Given the description of an element on the screen output the (x, y) to click on. 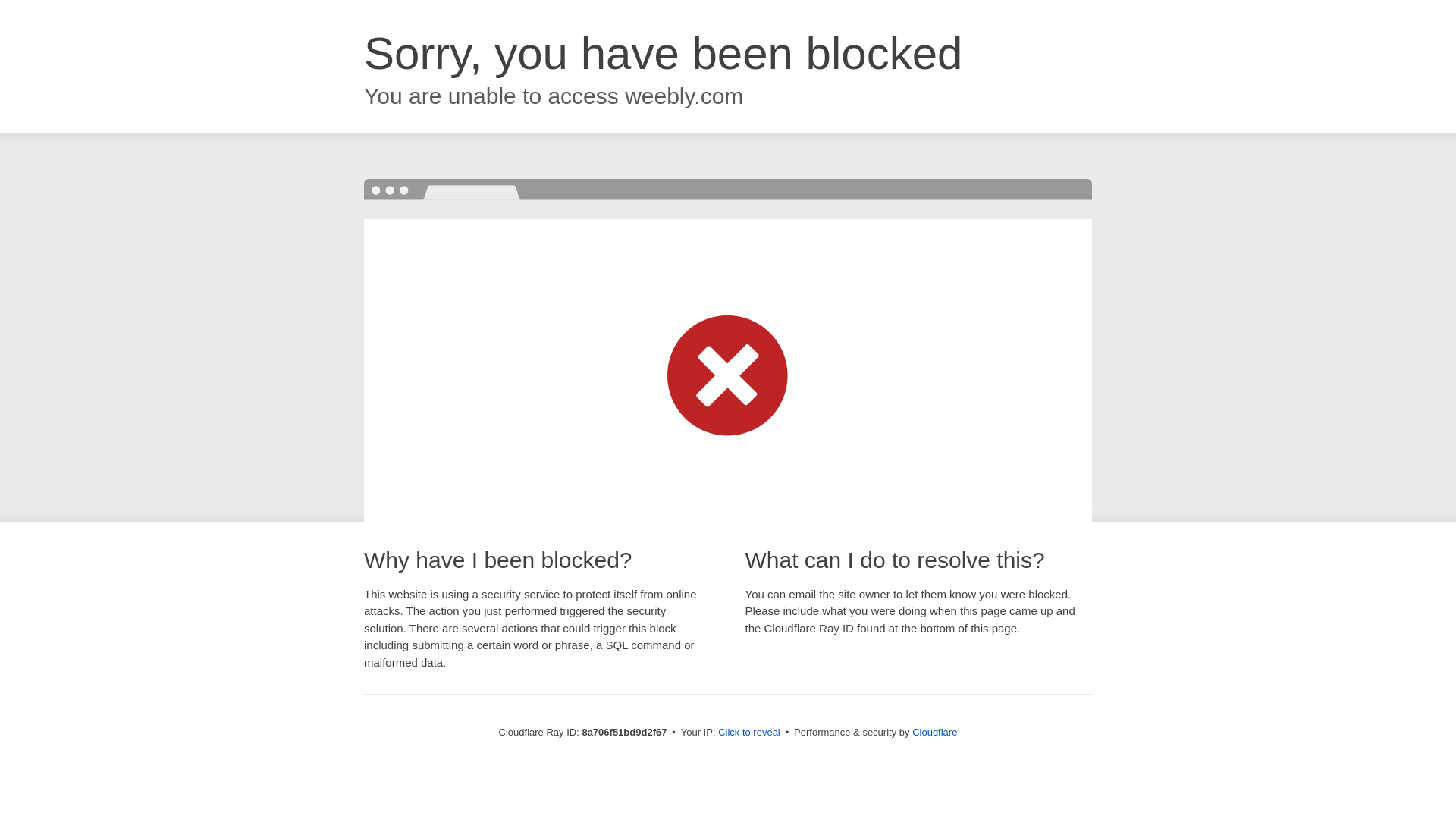
Click to reveal (748, 732)
Cloudflare (934, 731)
